Given the description of an element on the screen output the (x, y) to click on. 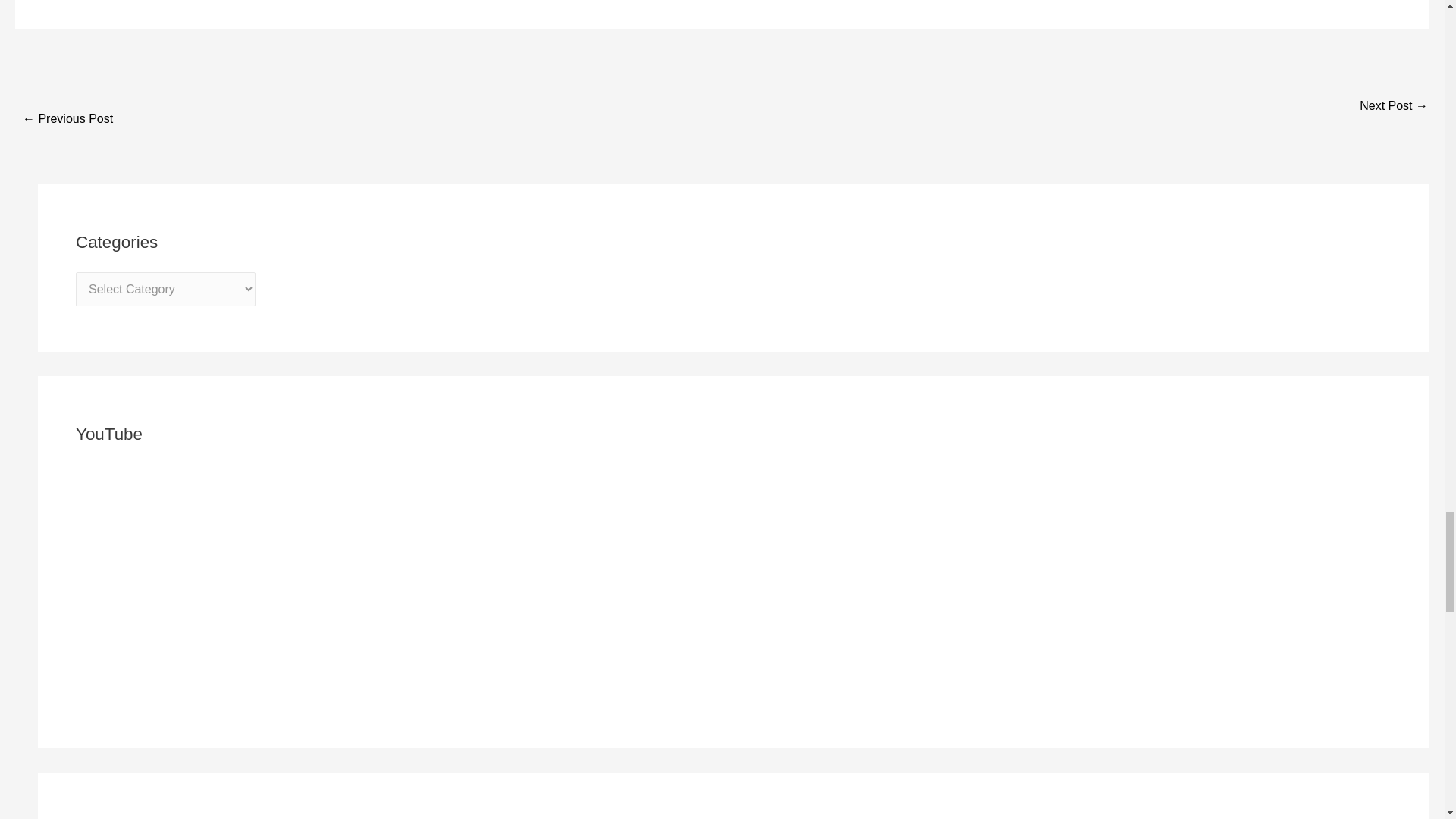
2016 Hyundai Genesis Car Review by Paul Fix III (68, 120)
